Given the description of an element on the screen output the (x, y) to click on. 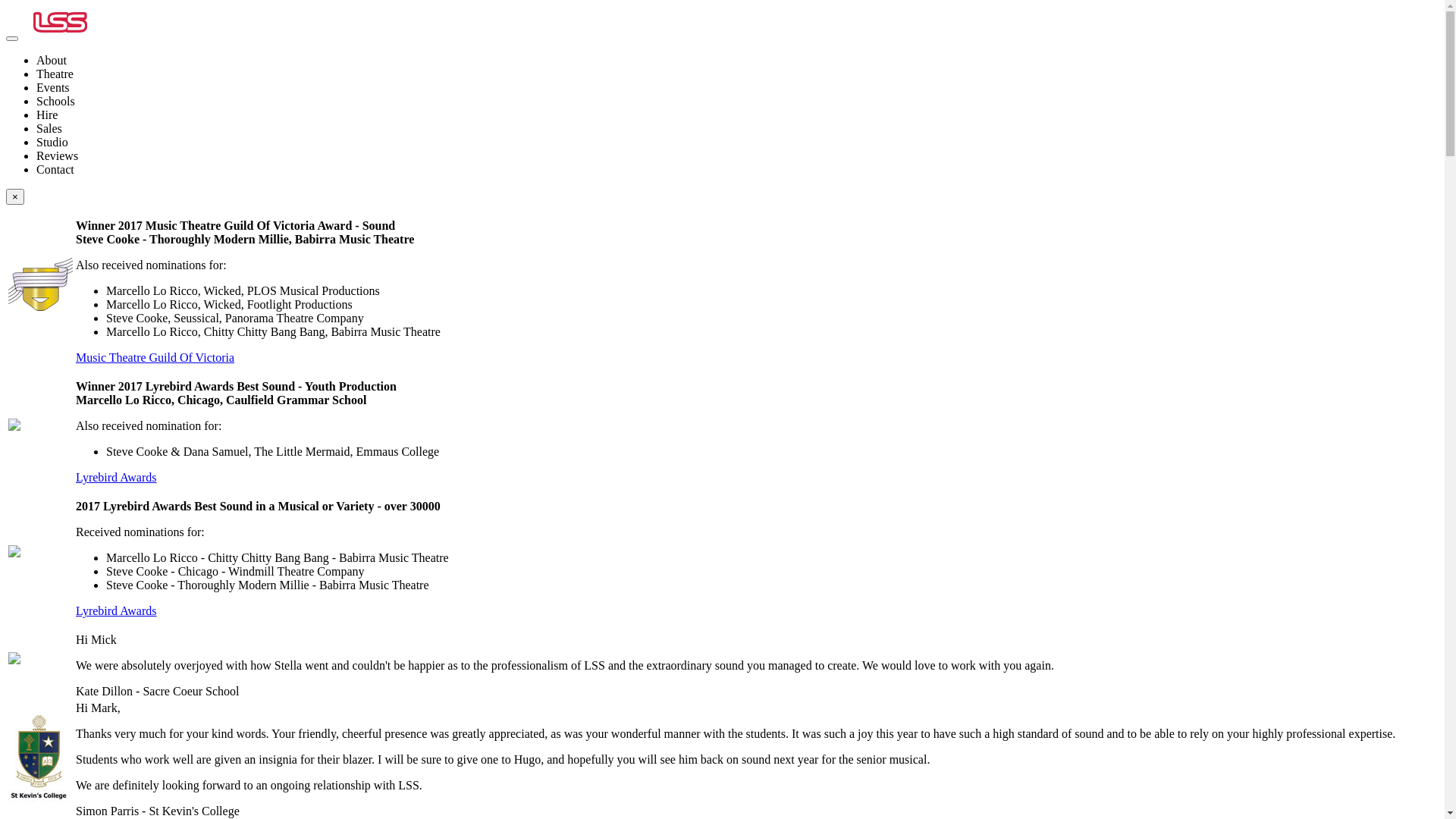
Reviews Element type: text (57, 155)
Events Element type: text (737, 87)
Contact Element type: text (737, 169)
Schools Element type: text (55, 100)
About Element type: text (737, 60)
Hire Element type: text (46, 114)
Studio Element type: text (52, 141)
Music Theatre Guild Of Victoria Element type: text (154, 357)
About Element type: text (51, 59)
Lyrebird Awards Element type: text (115, 610)
Reviews Element type: text (737, 156)
Contact Element type: text (55, 169)
Events Element type: text (52, 87)
Theatre Element type: text (737, 74)
Sales Element type: text (737, 128)
Hire Element type: text (737, 115)
Lyrebird Awards Element type: text (115, 476)
Studio Element type: text (737, 142)
Schools Element type: text (737, 101)
Sales Element type: text (49, 128)
Theatre Element type: text (54, 73)
